Given the description of an element on the screen output the (x, y) to click on. 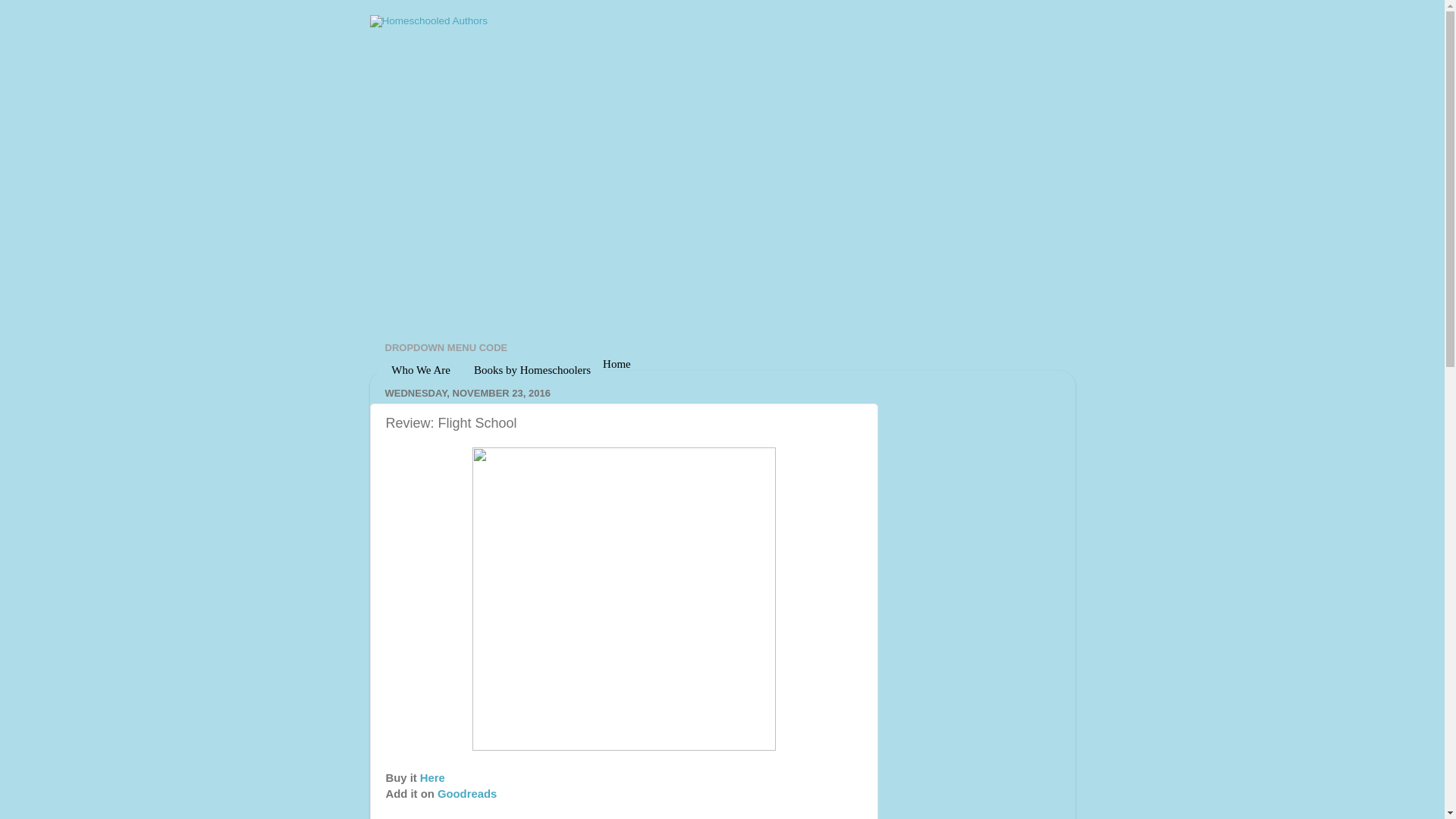
Who We Are (420, 369)
Goodreads (467, 793)
Books by Homeschoolers (532, 369)
Here (432, 777)
